Given the description of an element on the screen output the (x, y) to click on. 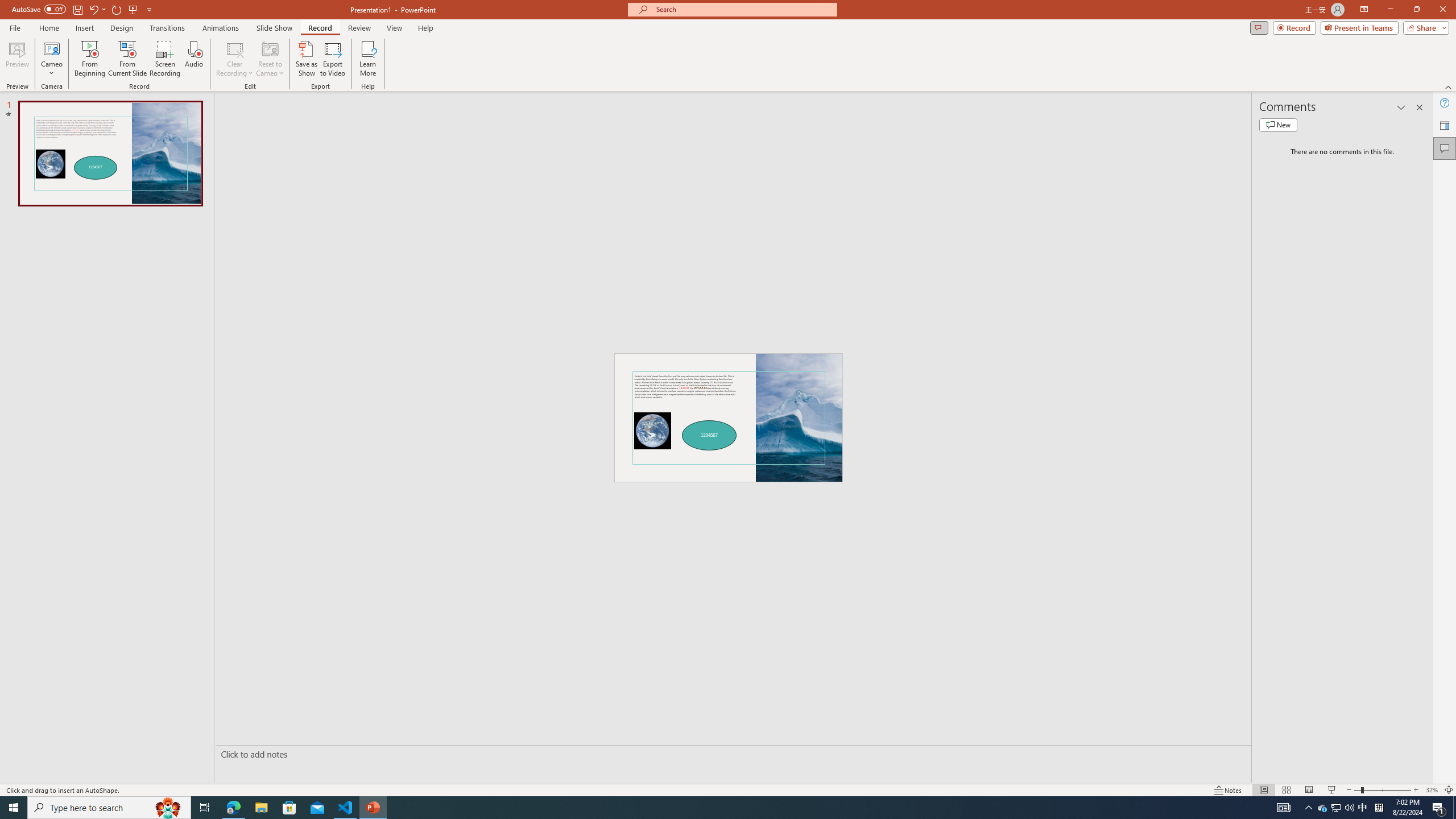
Cameo (51, 48)
Feedback to Microsoft (1444, 125)
